Given the description of an element on the screen output the (x, y) to click on. 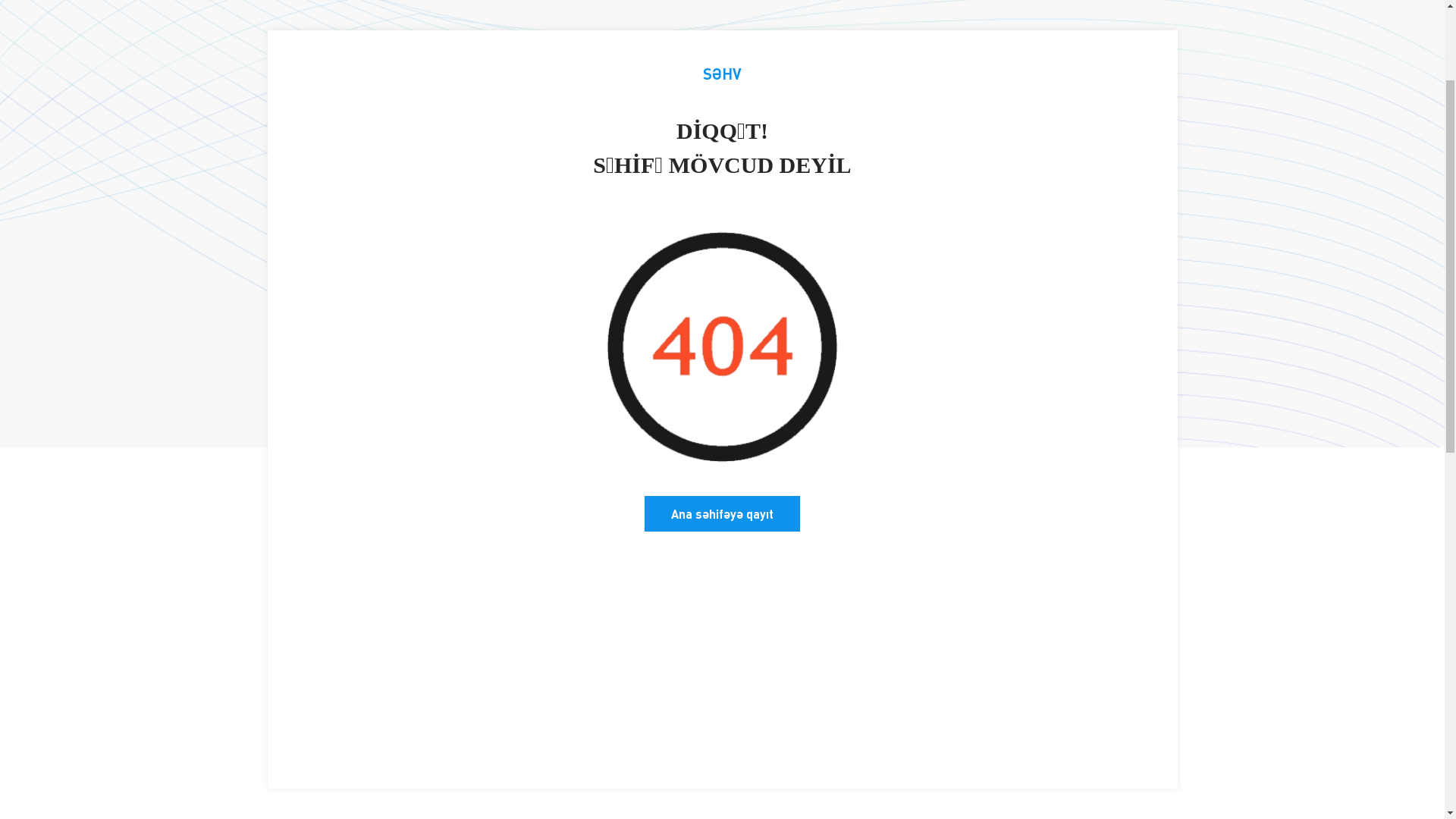
AZ Element type: text (1124, 47)
ELANLAR Element type: text (771, 128)
EN Element type: text (1147, 47)
QALEREYA Element type: text (1070, 128)
RU Element type: text (1169, 47)
